Given the description of an element on the screen output the (x, y) to click on. 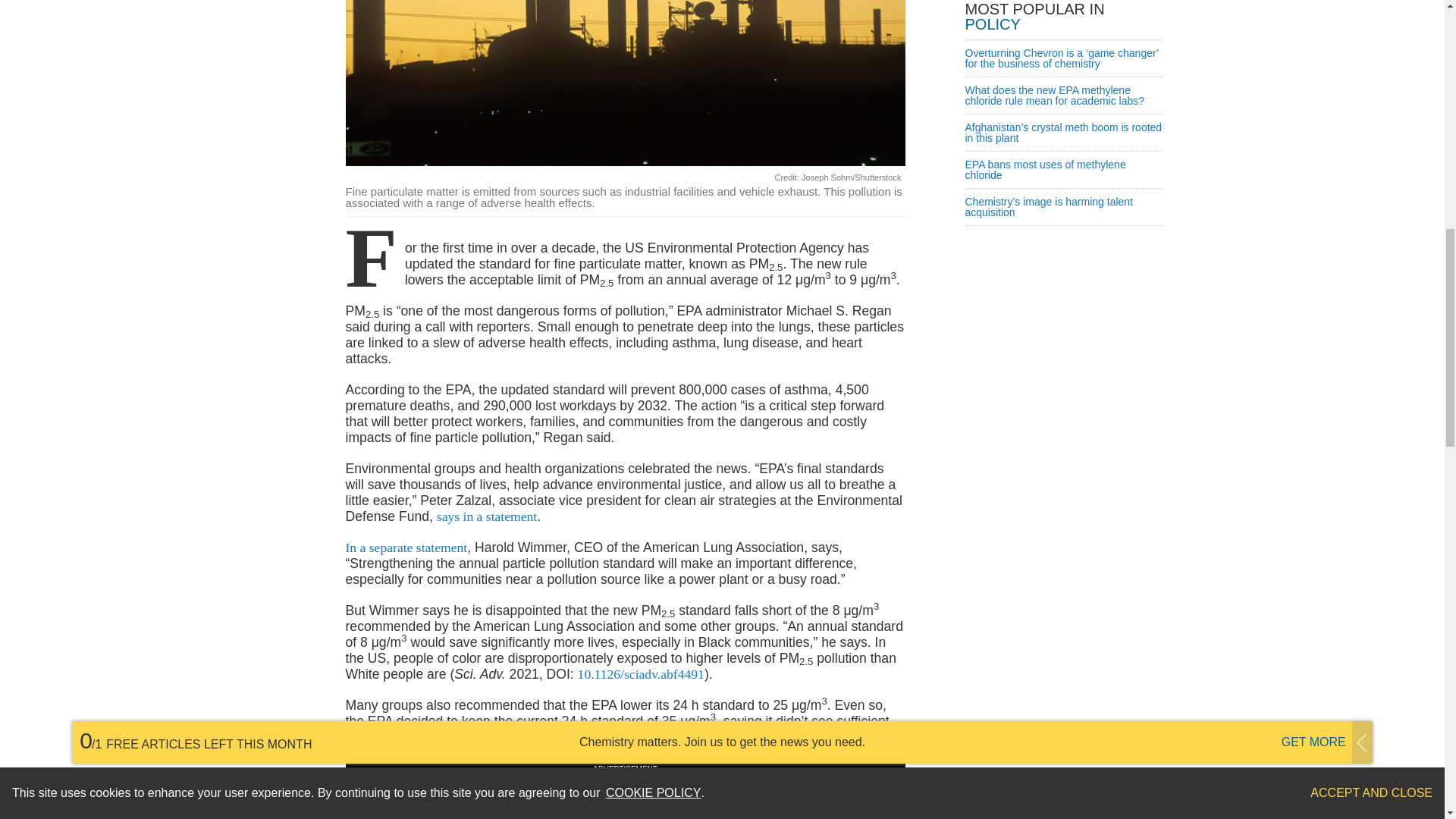
A row of smokestacks billowing smoke or steam. (625, 84)
